Given the description of an element on the screen output the (x, y) to click on. 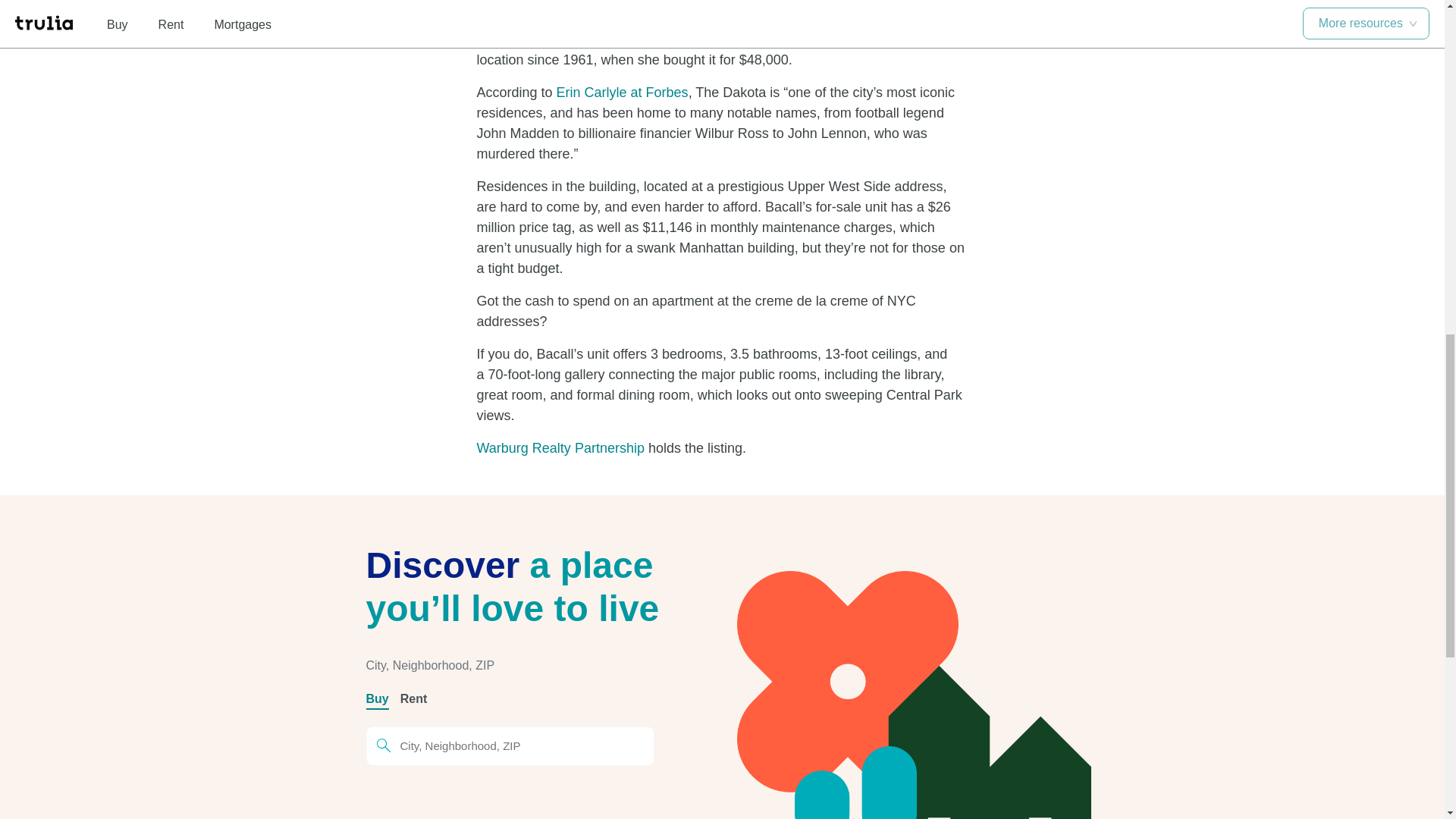
late screen legend (559, 2)
Erin Carlyle at Forbes (622, 92)
Warburg Realty Partnership (559, 447)
death at age 89 (856, 18)
